Given the description of an element on the screen output the (x, y) to click on. 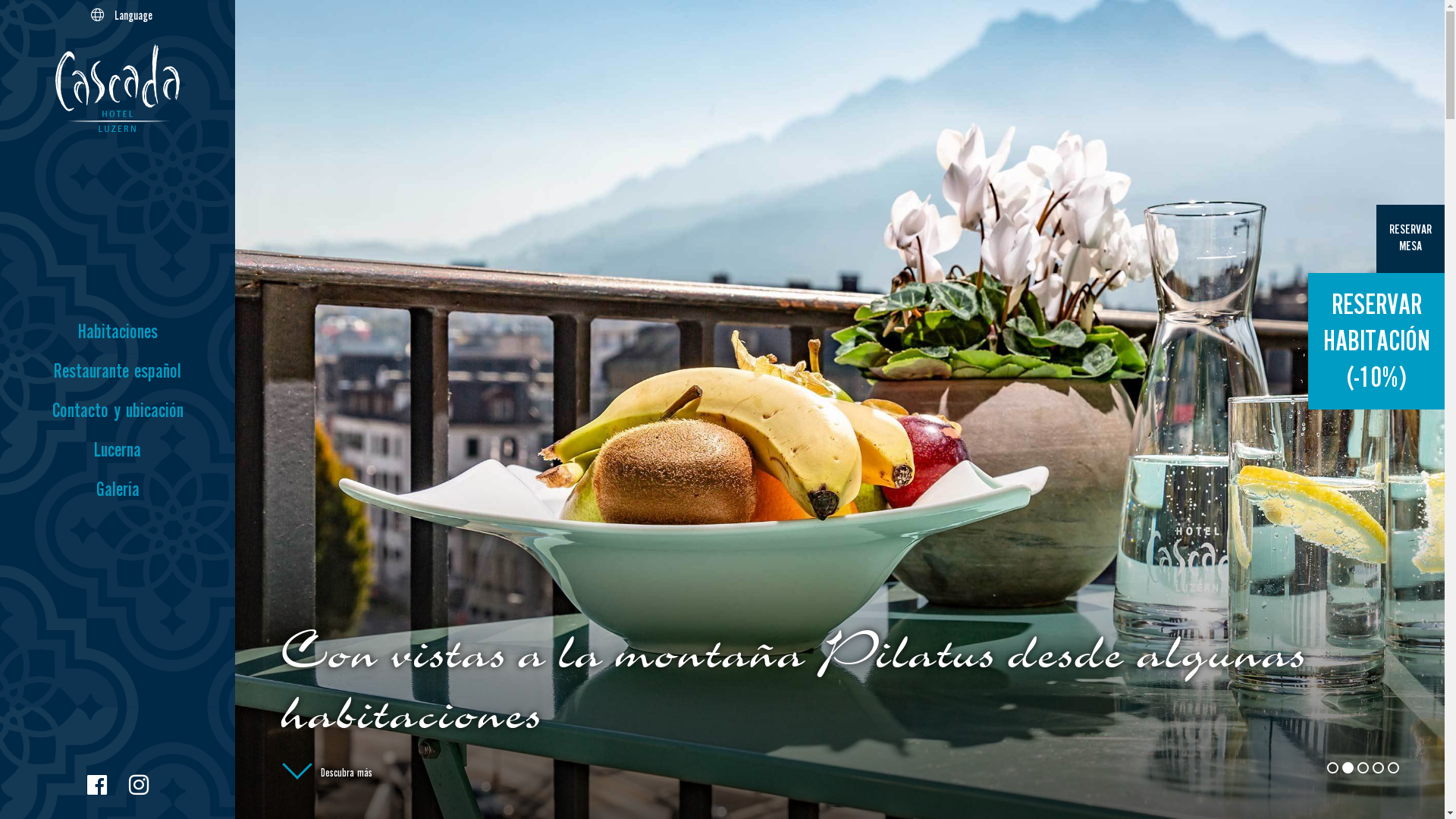
RESERVAR MESA Element type: text (1410, 238)
Lucerna Element type: text (117, 450)
Home Element type: hover (117, 90)
CASCADA Hotel @ Instagram Element type: hover (138, 784)
CASCADA Hotel @ Facebook Element type: hover (95, 784)
Habitaciones Element type: text (117, 331)
